Given the description of an element on the screen output the (x, y) to click on. 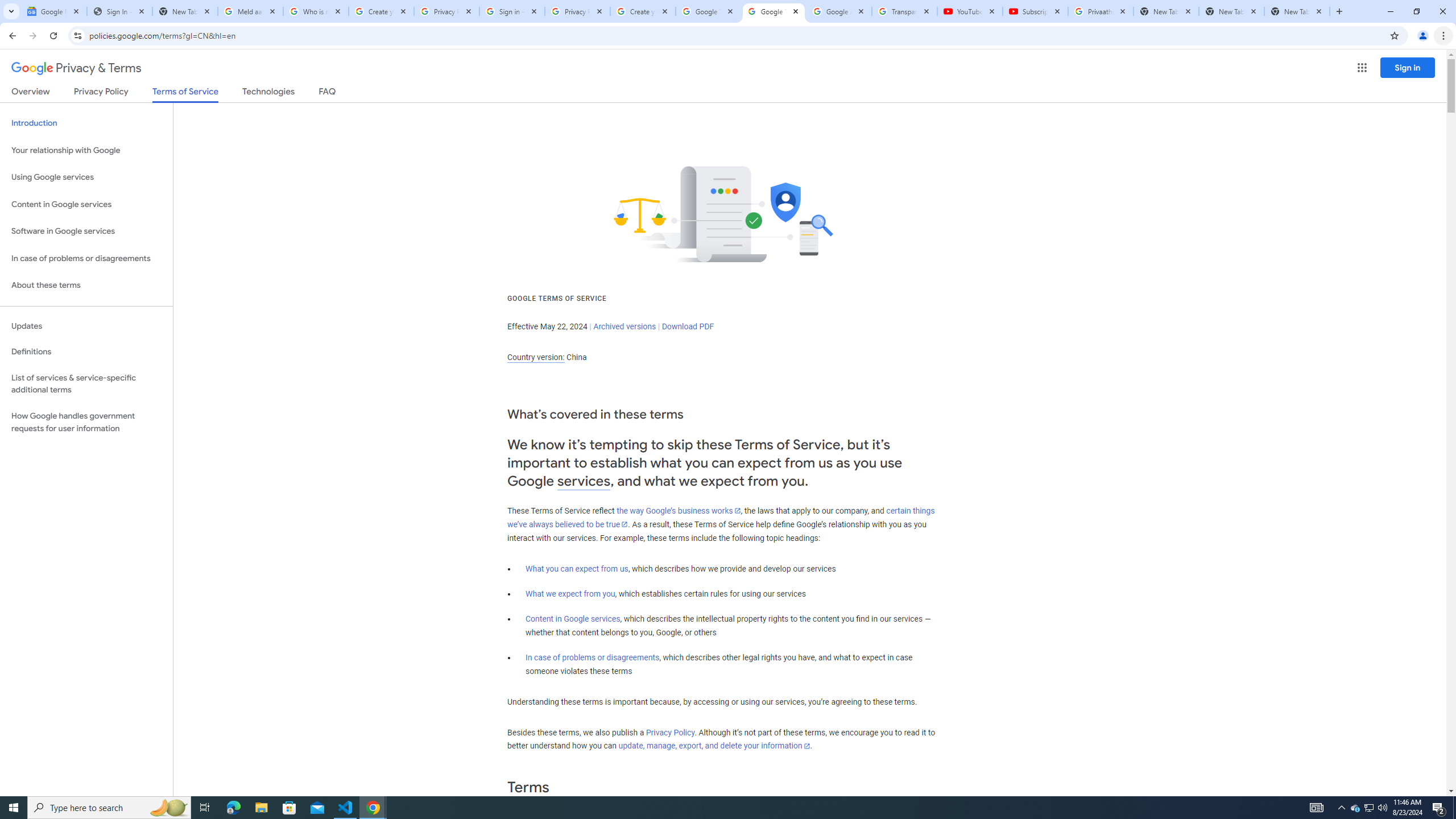
Google Account (838, 11)
Download PDF (687, 326)
Software in Google services (86, 230)
Updates (86, 325)
